Given the description of an element on the screen output the (x, y) to click on. 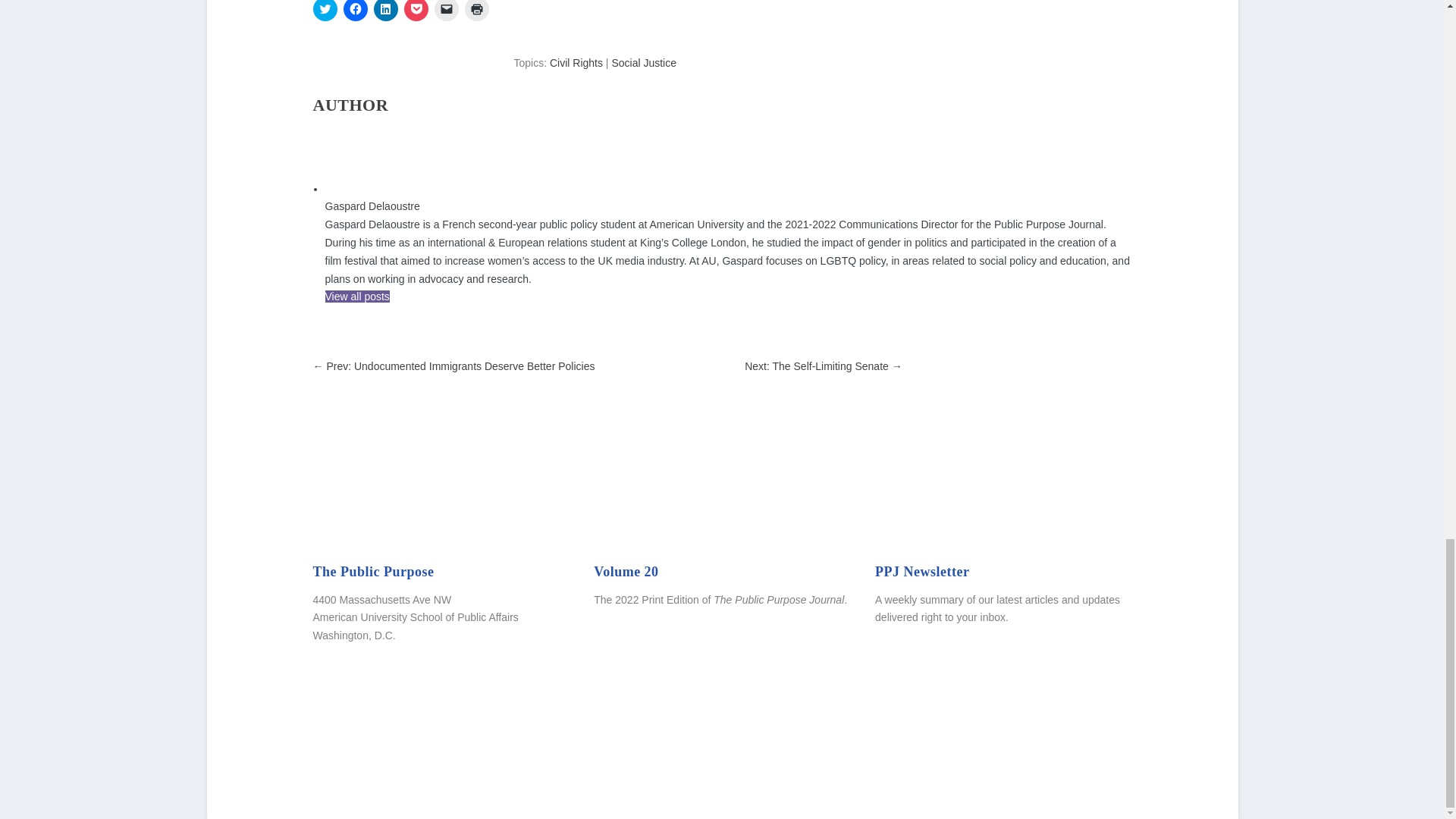
Click to share on Facebook (354, 10)
Click to share on Twitter (324, 10)
Click to print (475, 10)
Gaspard Delaoustre (371, 205)
Click to share on LinkedIn (384, 10)
Click to email a link to a friend (445, 10)
Click to share on Pocket (415, 10)
